Given the description of an element on the screen output the (x, y) to click on. 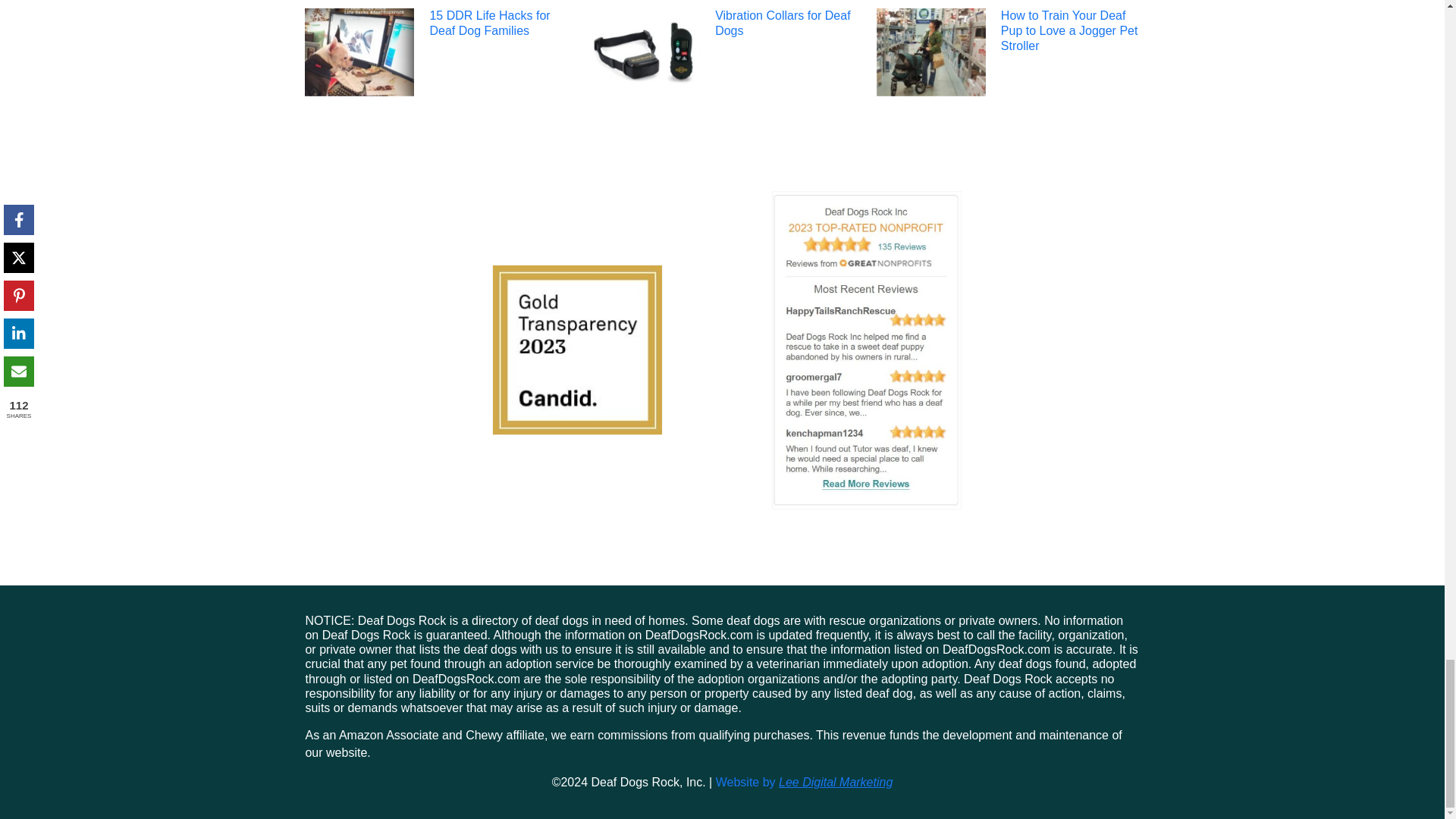
website design by Lee Digital Marketing (804, 781)
